Given the description of an element on the screen output the (x, y) to click on. 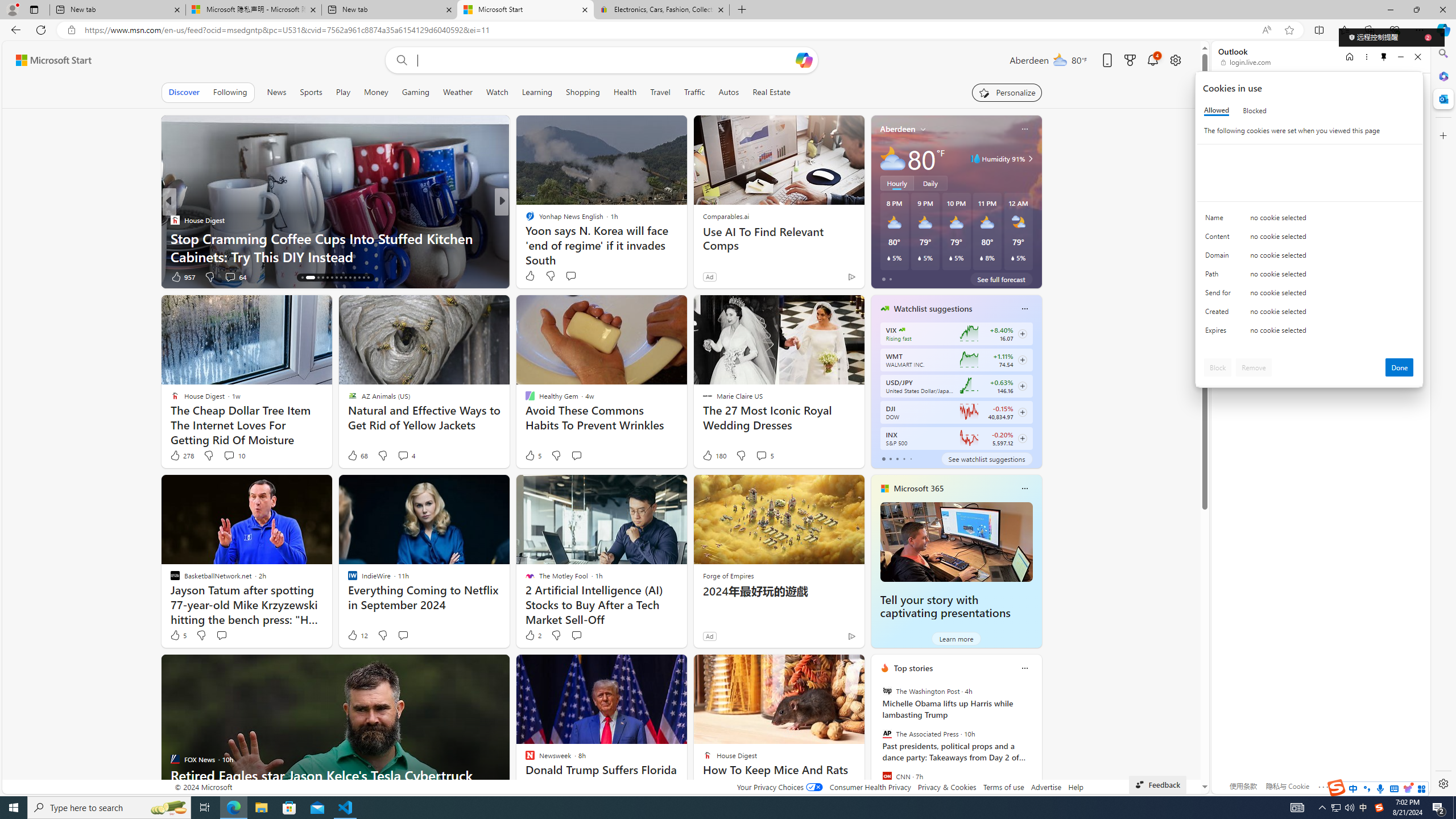
5 Like (177, 634)
2 Like (532, 634)
Domain (1219, 257)
View comments 13 Comment (582, 276)
Expires (1219, 332)
Humidity 91% (1028, 158)
This story is trending (829, 279)
68 Like (357, 455)
View comments 141 Comment (580, 276)
